Given the description of an element on the screen output the (x, y) to click on. 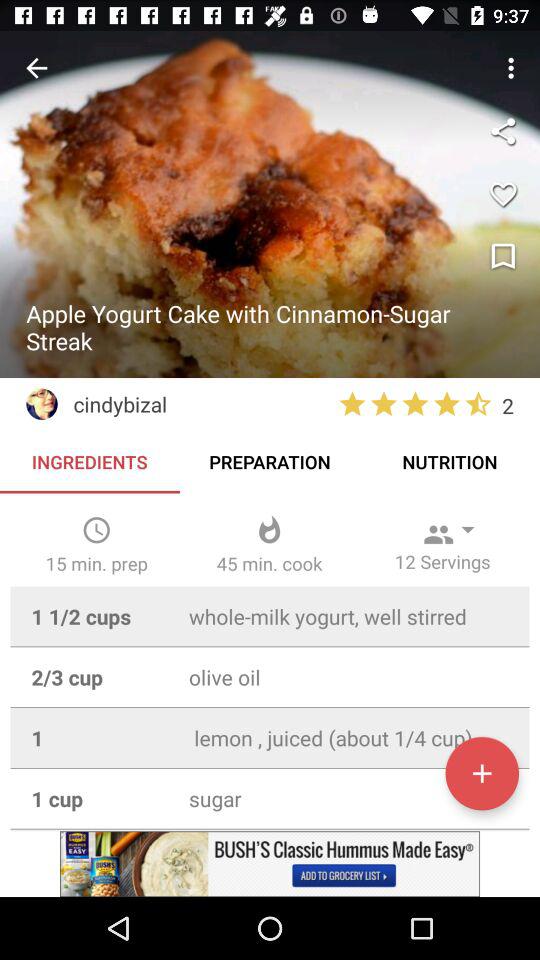
add recipe (482, 773)
